Given the description of an element on the screen output the (x, y) to click on. 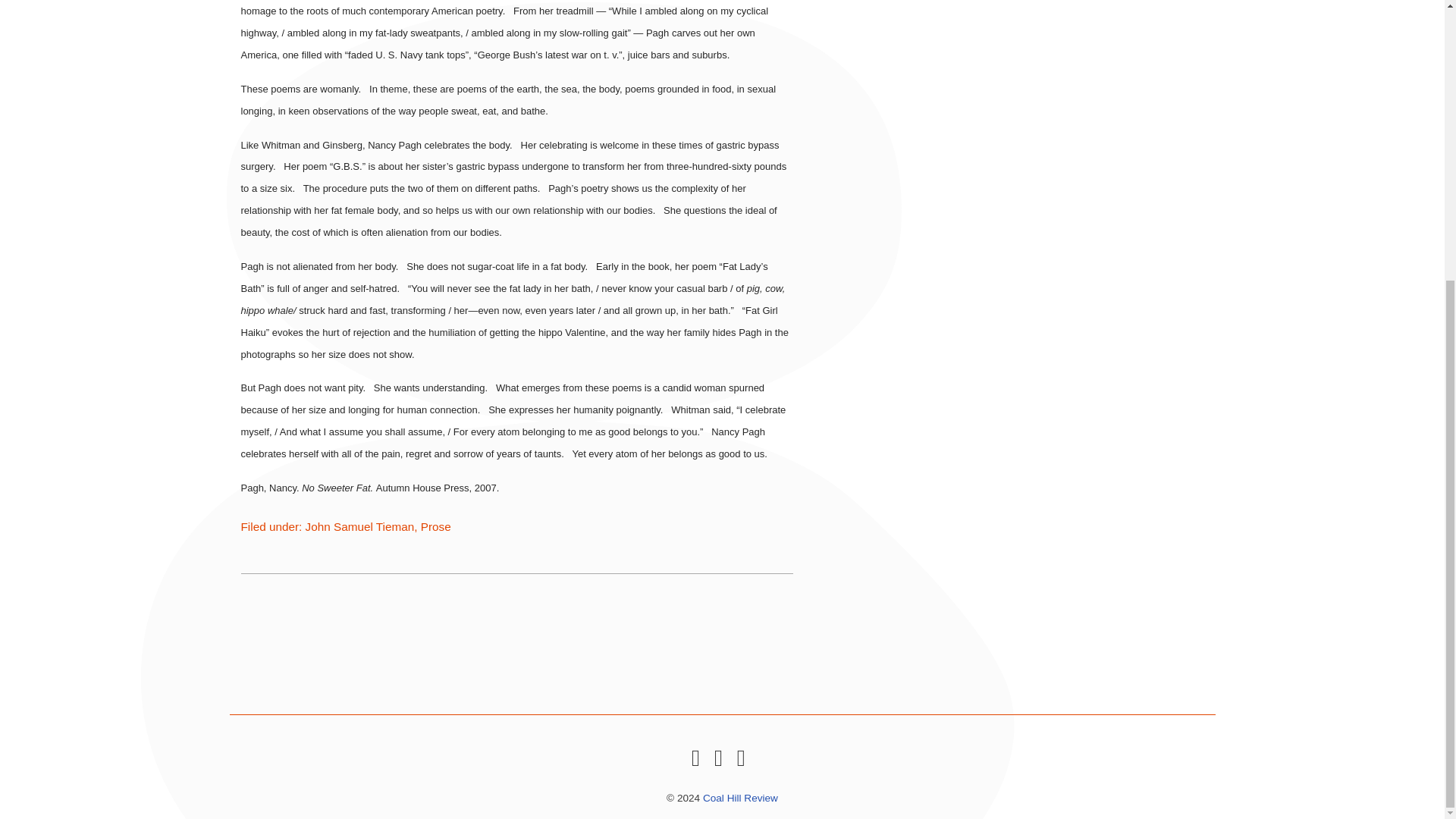
John Samuel Tieman (359, 526)
Prose (435, 526)
Coal Hill Review (740, 797)
